Given the description of an element on the screen output the (x, y) to click on. 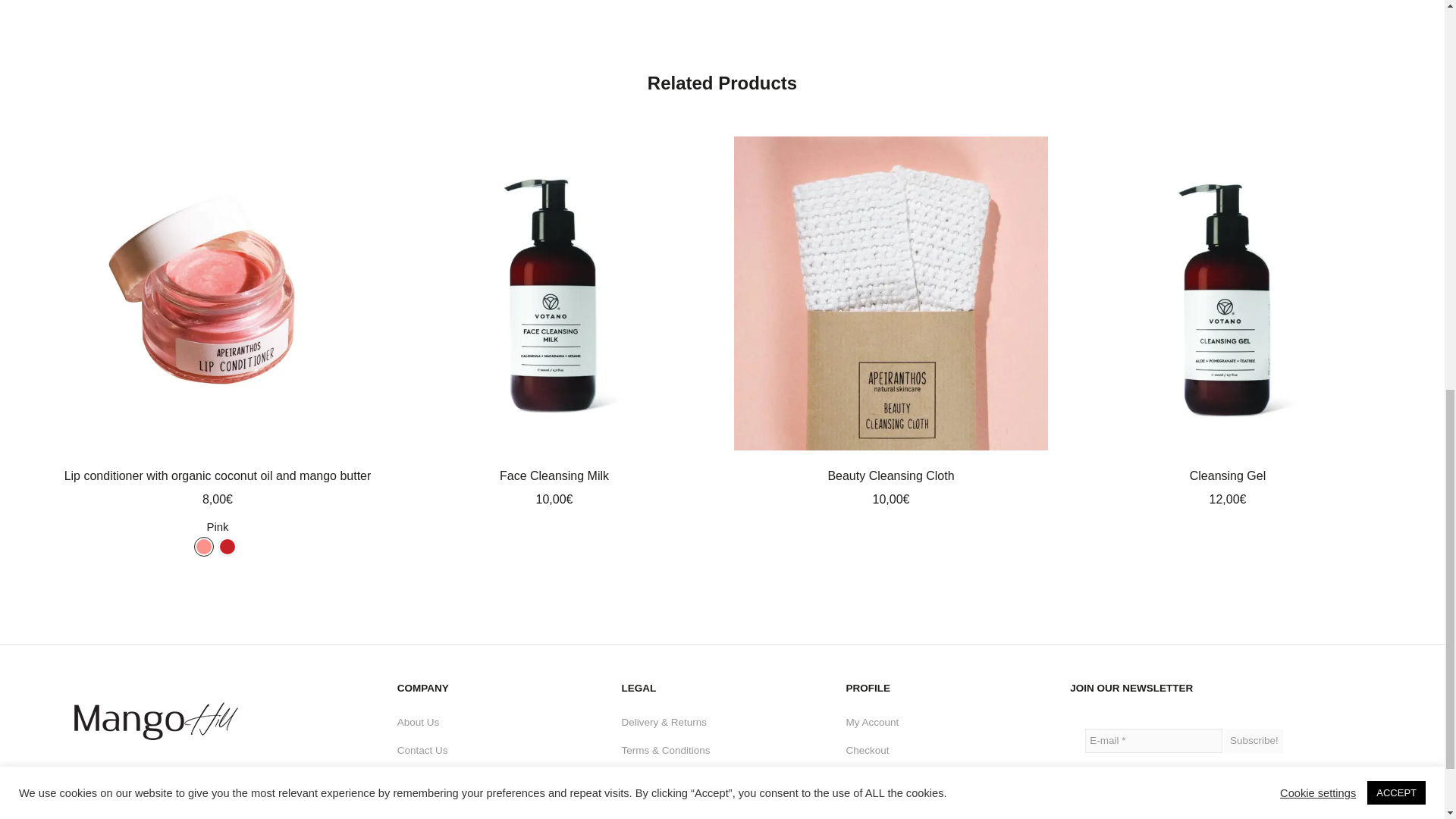
Pink (203, 546)
1 (1089, 775)
Lip conditioner with organic coconut oil and mango butter (217, 475)
Subscribe! (1253, 740)
